Given the description of an element on the screen output the (x, y) to click on. 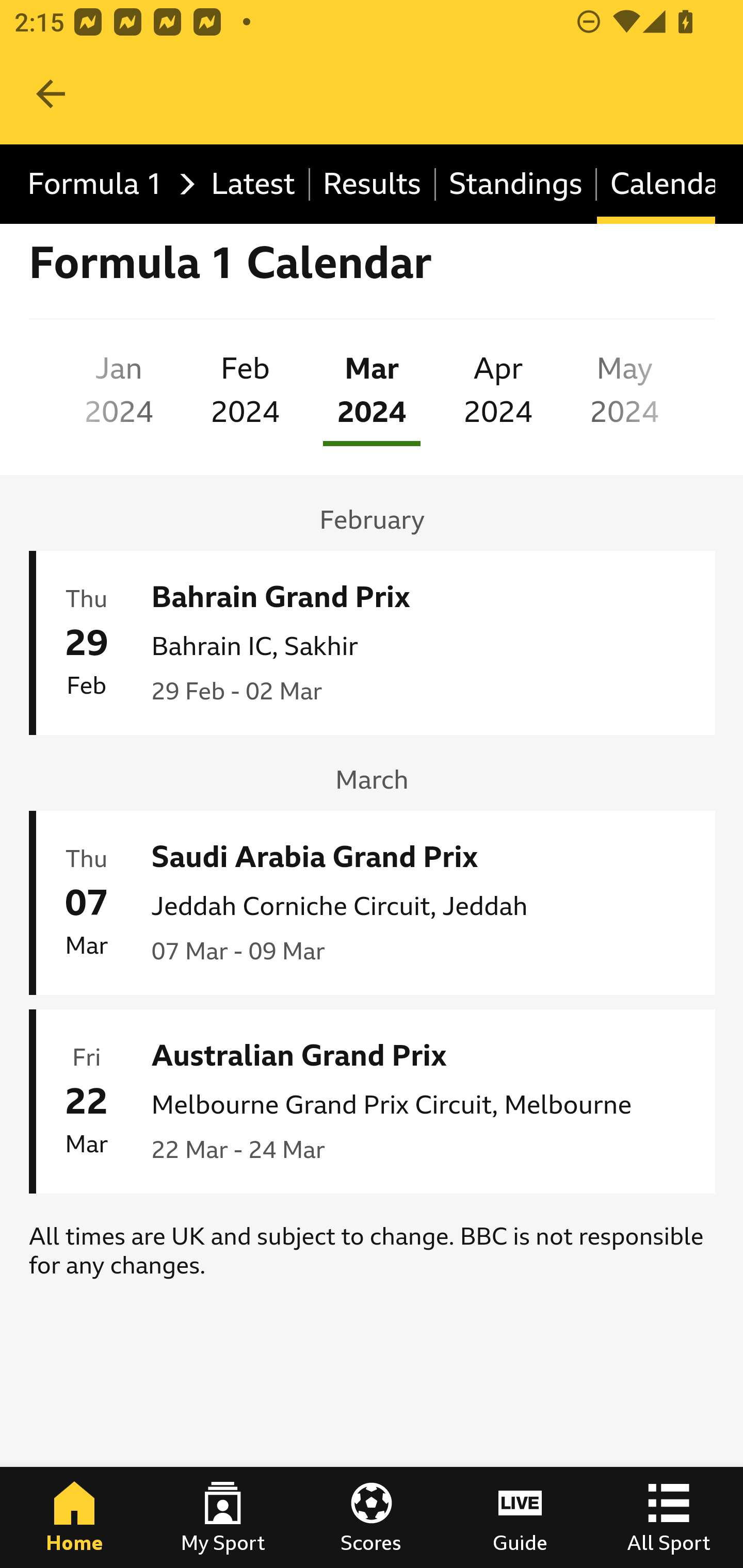
Navigate up (50, 93)
Formula 1 (106, 184)
Latest (253, 184)
Results (372, 184)
Standings (515, 184)
Calendar (655, 184)
My Sport (222, 1517)
Scores (371, 1517)
Guide (519, 1517)
All Sport (668, 1517)
